Given the description of an element on the screen output the (x, y) to click on. 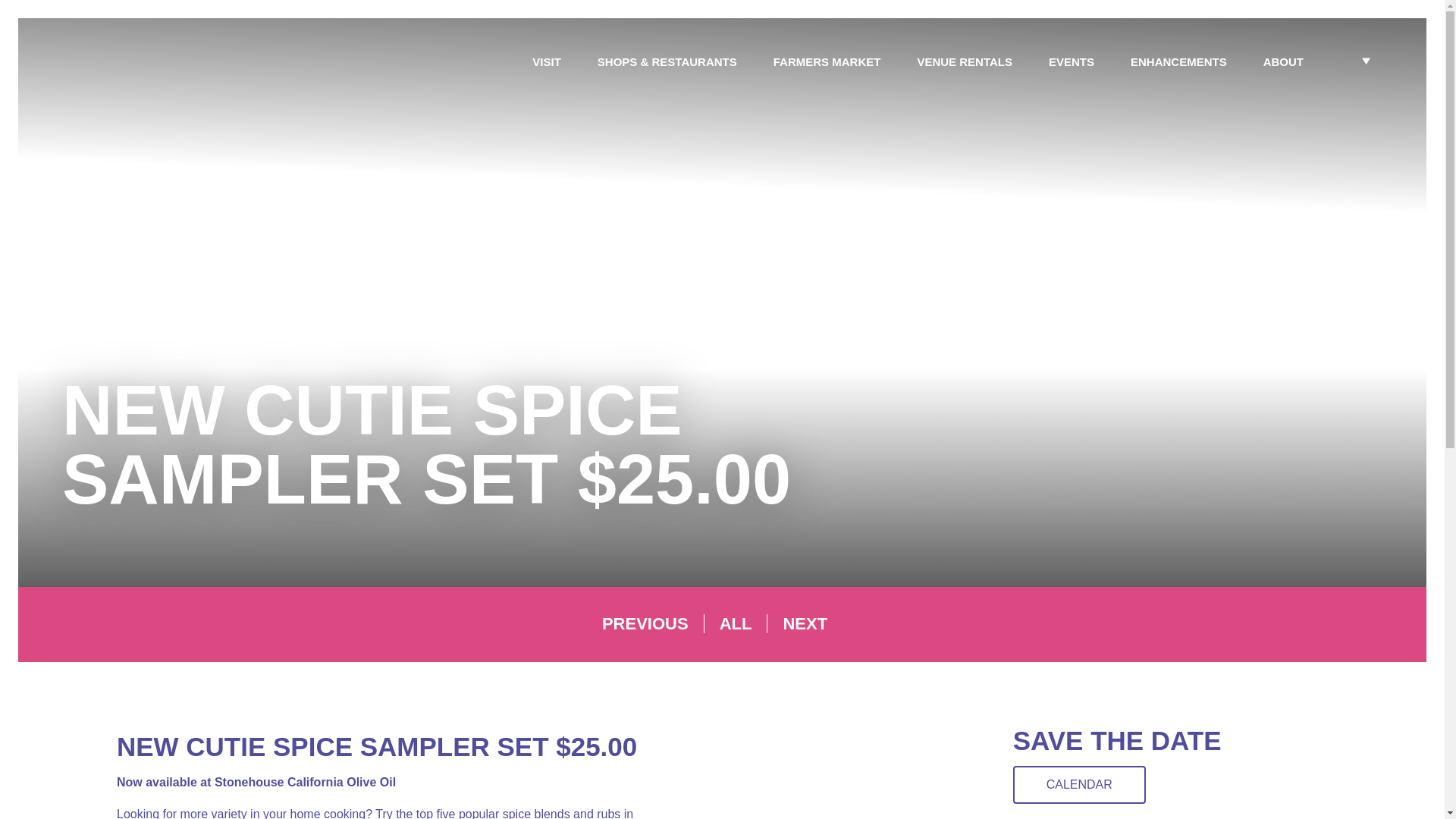
PREVIOUS (653, 623)
VENUE RENTALS (964, 62)
ABOUT (1283, 62)
VISIT (546, 62)
ALL (743, 623)
EVENTS (1071, 62)
FARMERS MARKET (827, 62)
ENHANCEMENTS (1178, 62)
CALENDAR (1079, 784)
NEXT (813, 623)
